Given the description of an element on the screen output the (x, y) to click on. 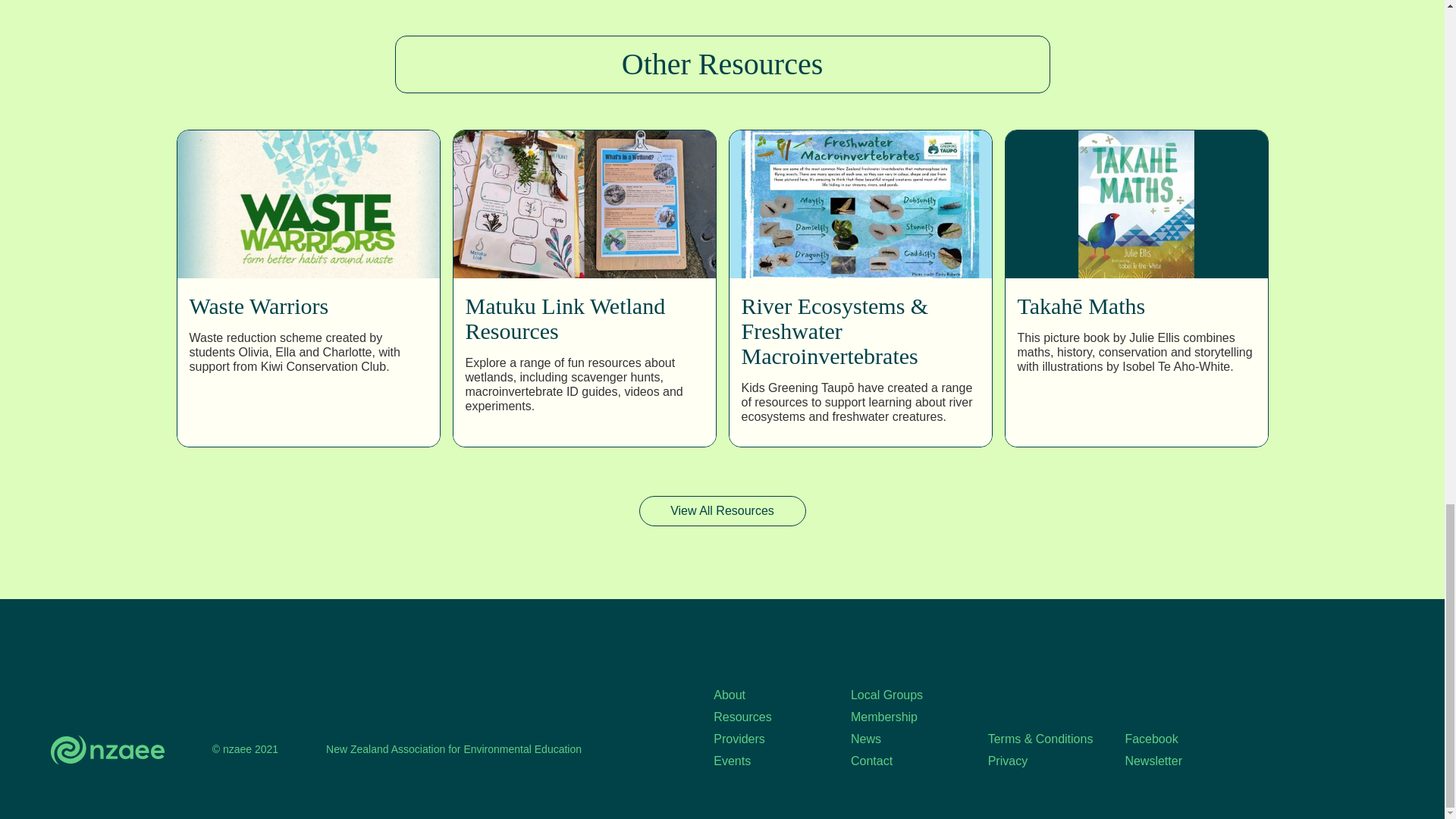
Resources (765, 716)
Membership (903, 716)
Matuku Link Wetland Resources (584, 318)
About (765, 694)
Waste Warriors (259, 305)
Local Groups (903, 694)
Providers (765, 738)
View All Resources (722, 511)
Events (765, 760)
